Given the description of an element on the screen output the (x, y) to click on. 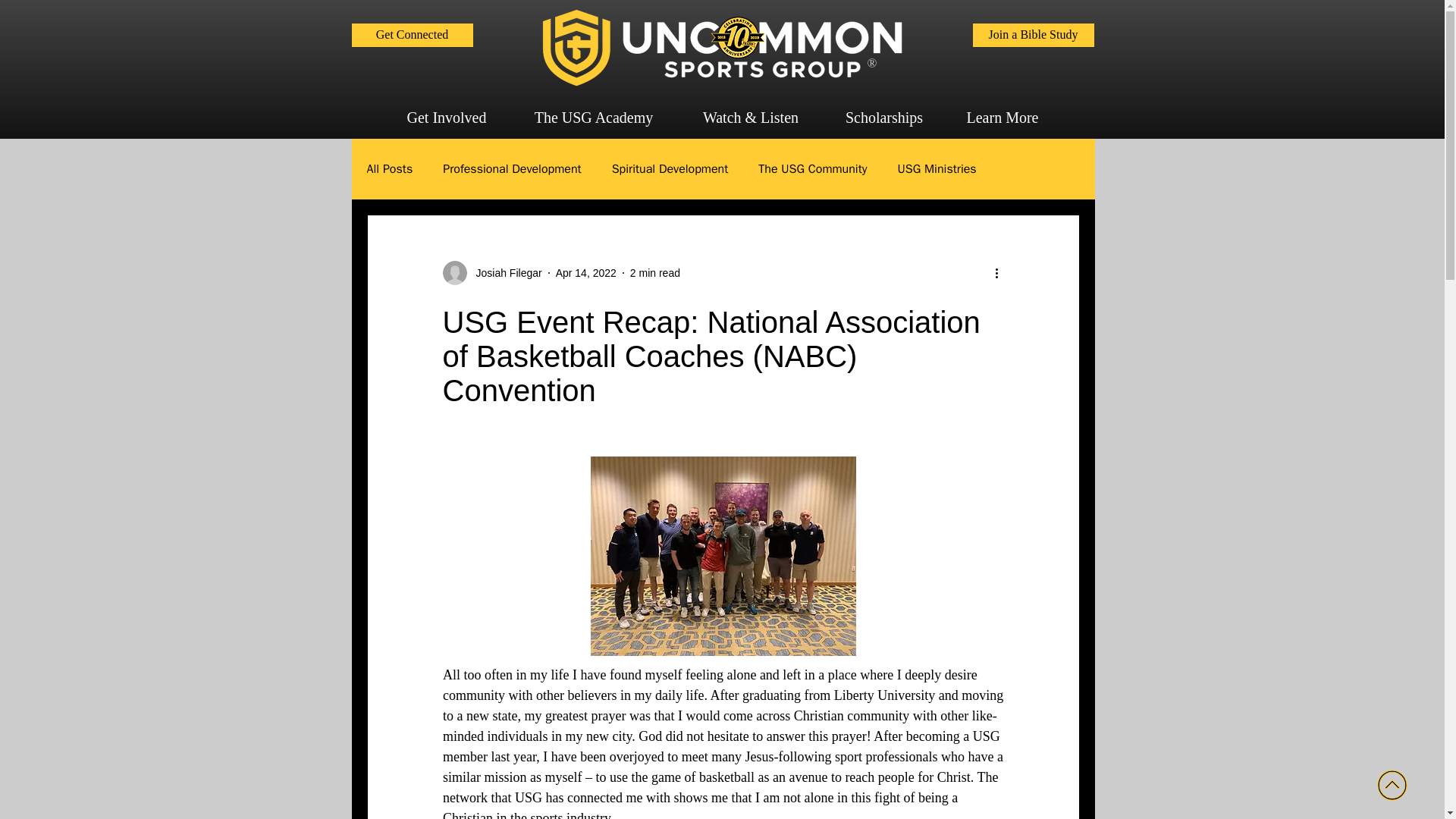
Spiritual Development (670, 168)
Join a Bible Study (1032, 34)
Apr 14, 2022 (585, 272)
Get Connected (412, 34)
Josiah Filegar (504, 273)
Josiah Filegar (491, 273)
USG Ministries (937, 168)
Professional Development (511, 168)
2 min read (654, 272)
All Posts (389, 168)
The USG Community (812, 168)
